Given the description of an element on the screen output the (x, y) to click on. 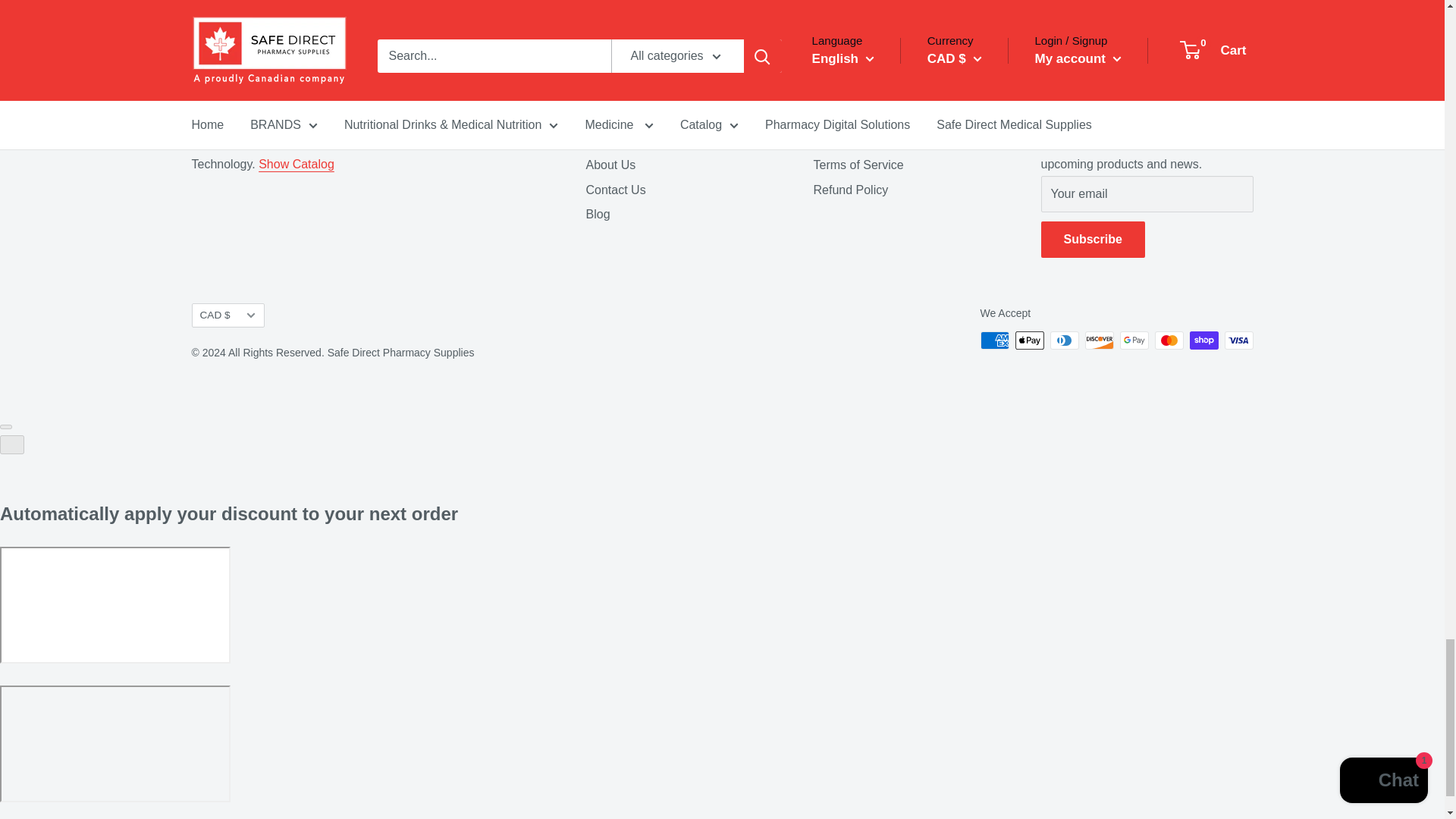
Show Catalog (296, 164)
